Given the description of an element on the screen output the (x, y) to click on. 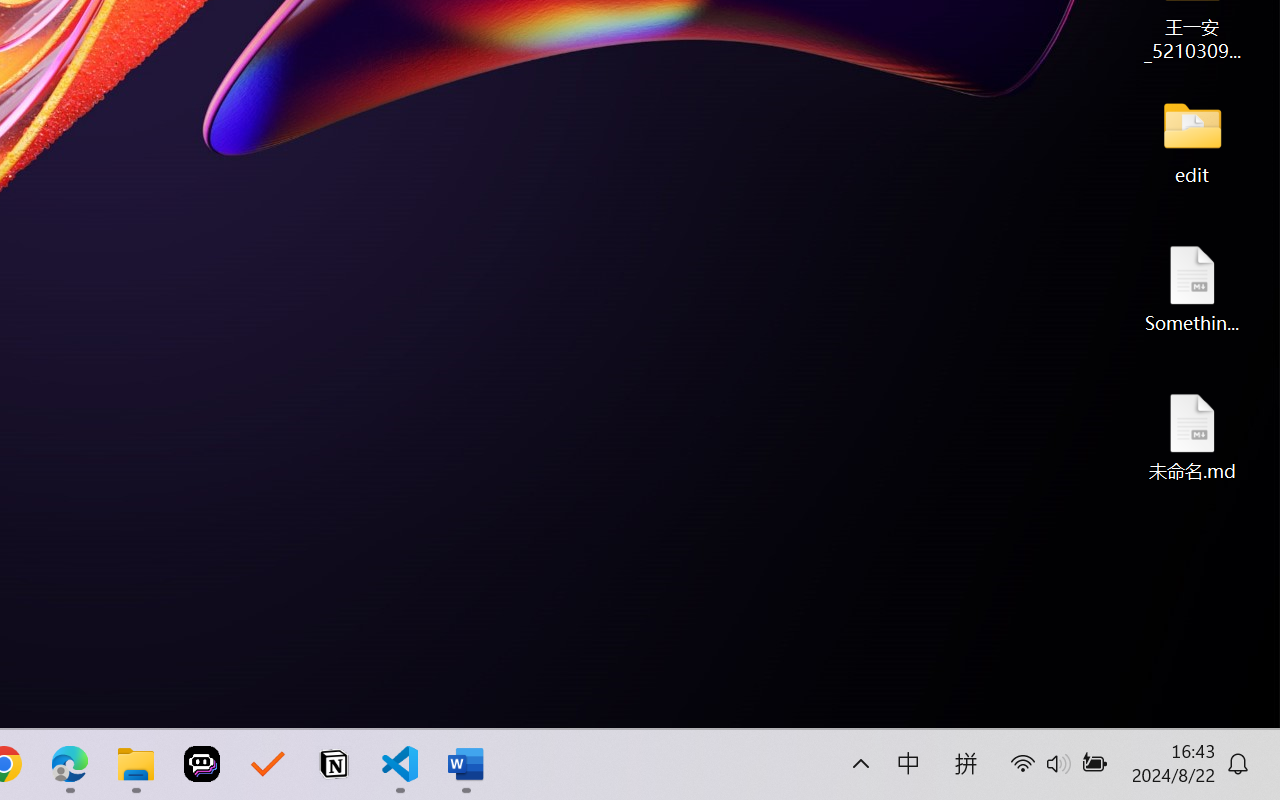
Something.md (1192, 288)
edit (1192, 140)
